Given the description of an element on the screen output the (x, y) to click on. 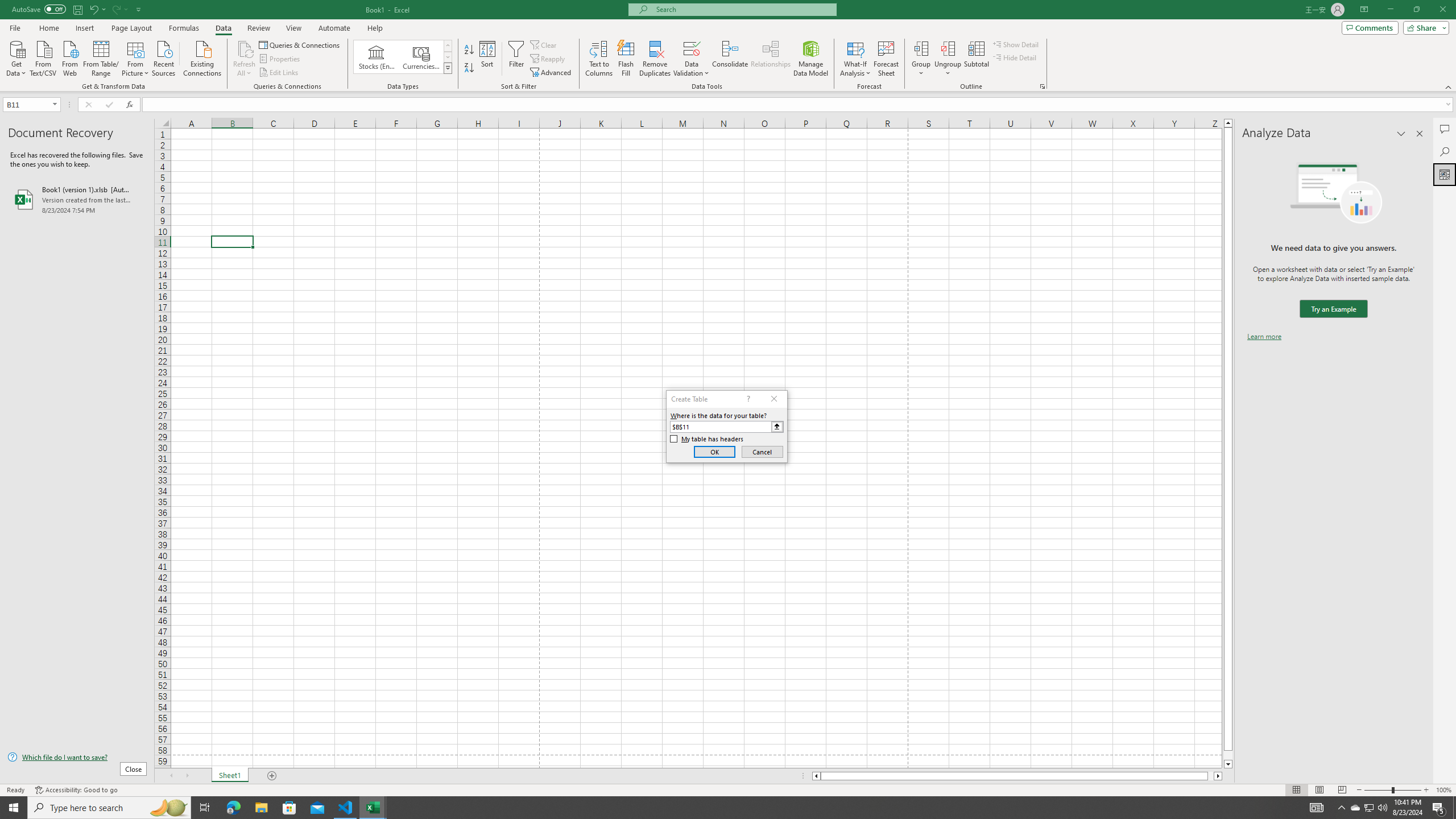
Stocks (English) (375, 56)
Recent Sources (163, 57)
